Given the description of an element on the screen output the (x, y) to click on. 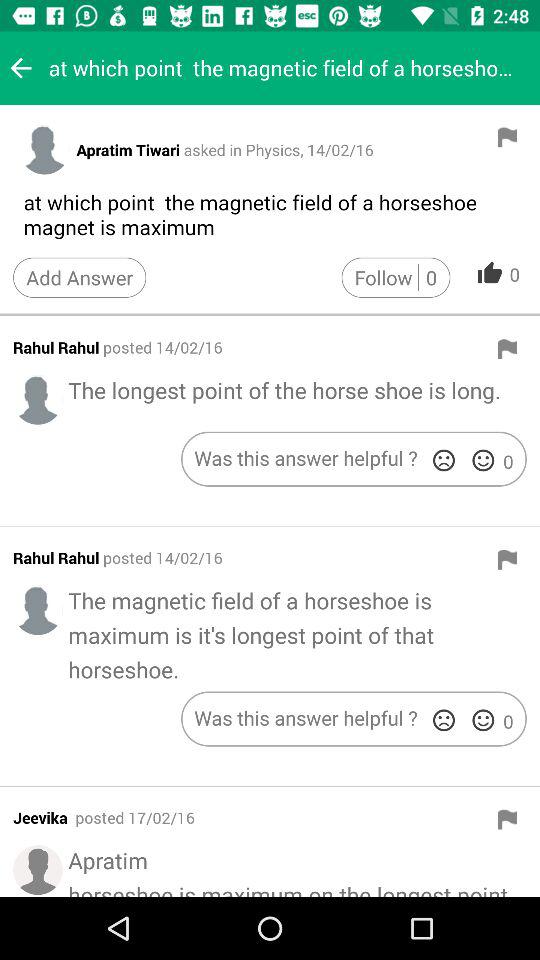
profile picture button (44, 149)
